Given the description of an element on the screen output the (x, y) to click on. 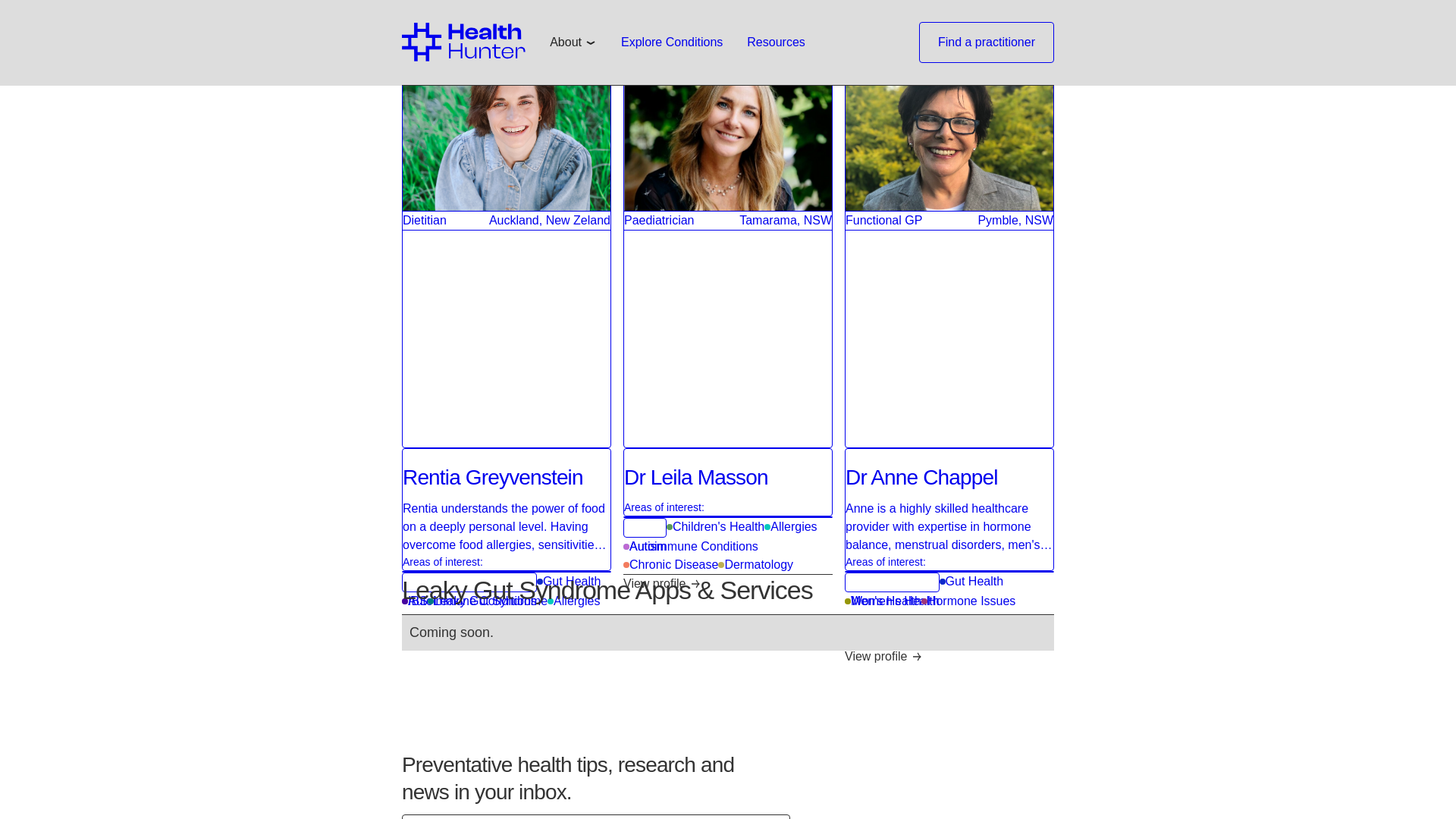
Autoimmune Conditions (469, 601)
Autism (423, 619)
Children's Health (715, 526)
Search for more (985, 26)
Men's Health (882, 601)
Leaky Gut Syndrome (487, 601)
Autism (644, 546)
Gut Health (727, 482)
Allergies (568, 581)
Chronic Disease (573, 601)
IBS (670, 565)
Allergies (414, 601)
Hormone Issues (790, 526)
